Given the description of an element on the screen output the (x, y) to click on. 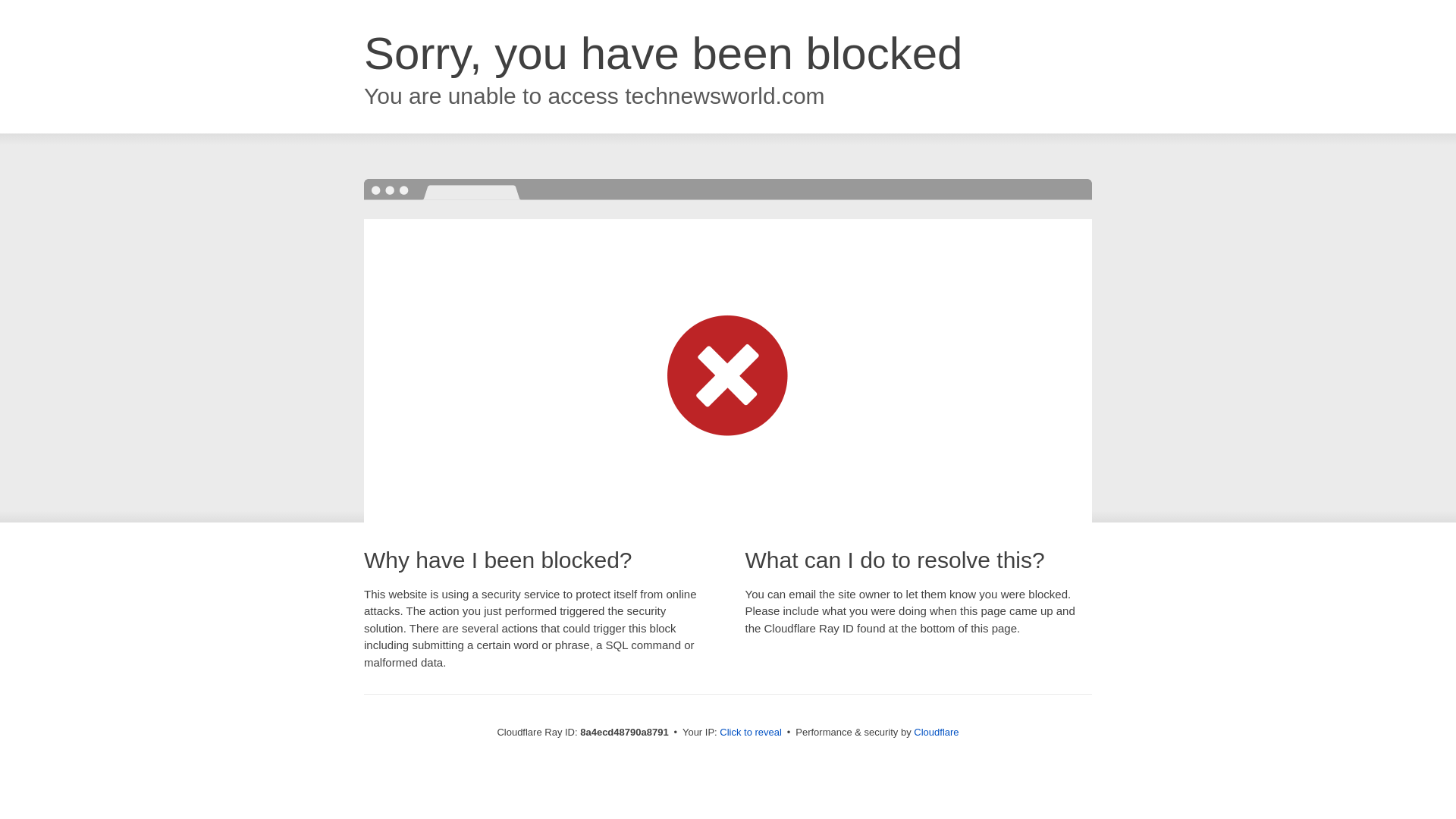
Cloudflare (936, 731)
Click to reveal (750, 732)
